Given the description of an element on the screen output the (x, y) to click on. 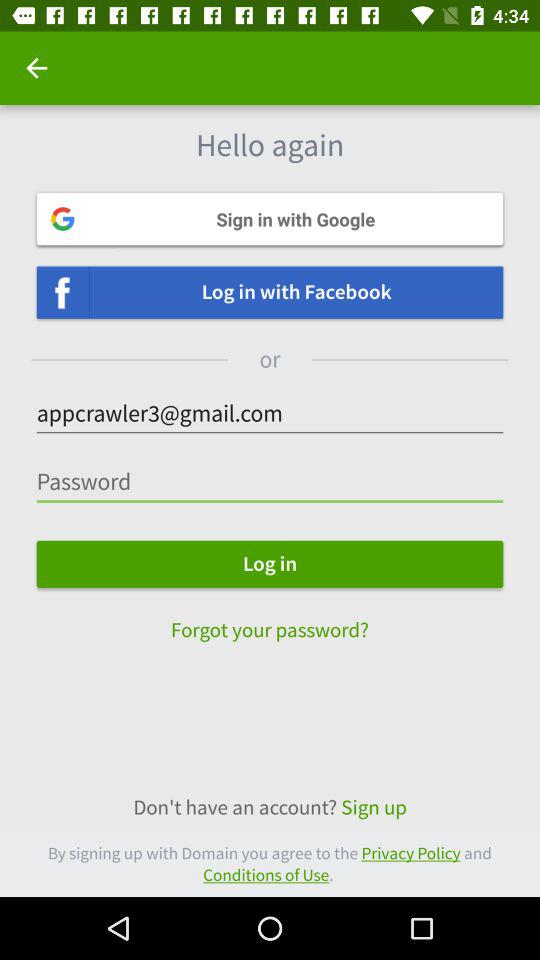
tap by signing up (270, 864)
